Given the description of an element on the screen output the (x, y) to click on. 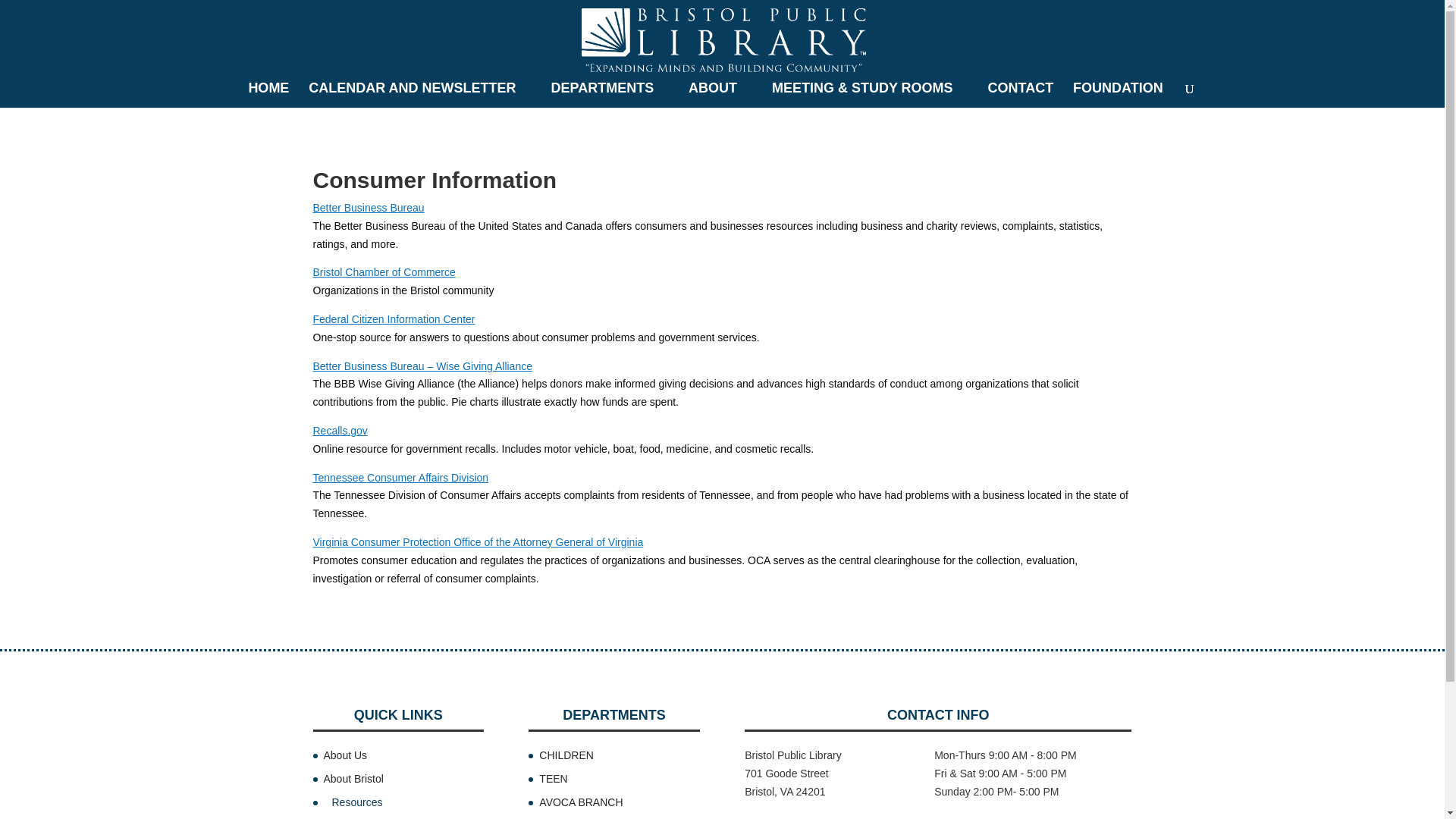
CALENDAR AND NEWSLETTER (419, 94)
FOUNDATION (1118, 94)
Visit the Better Business Bureau Website (368, 207)
CONTACT (1021, 94)
HOME (267, 94)
ABOUT (720, 94)
DEPARTMENTS (609, 94)
